Given the description of an element on the screen output the (x, y) to click on. 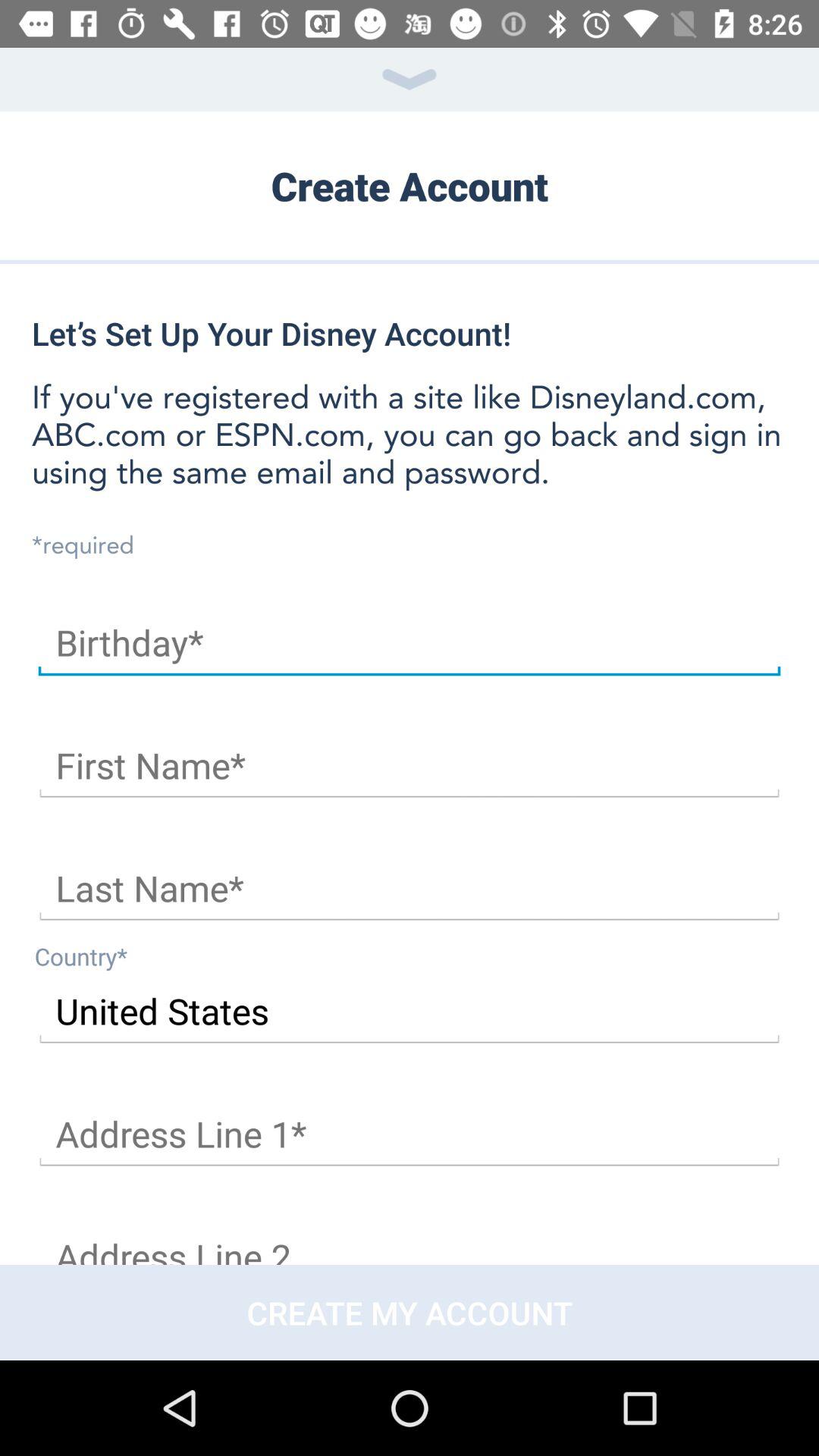
enter address line 2 (409, 1241)
